Given the description of an element on the screen output the (x, y) to click on. 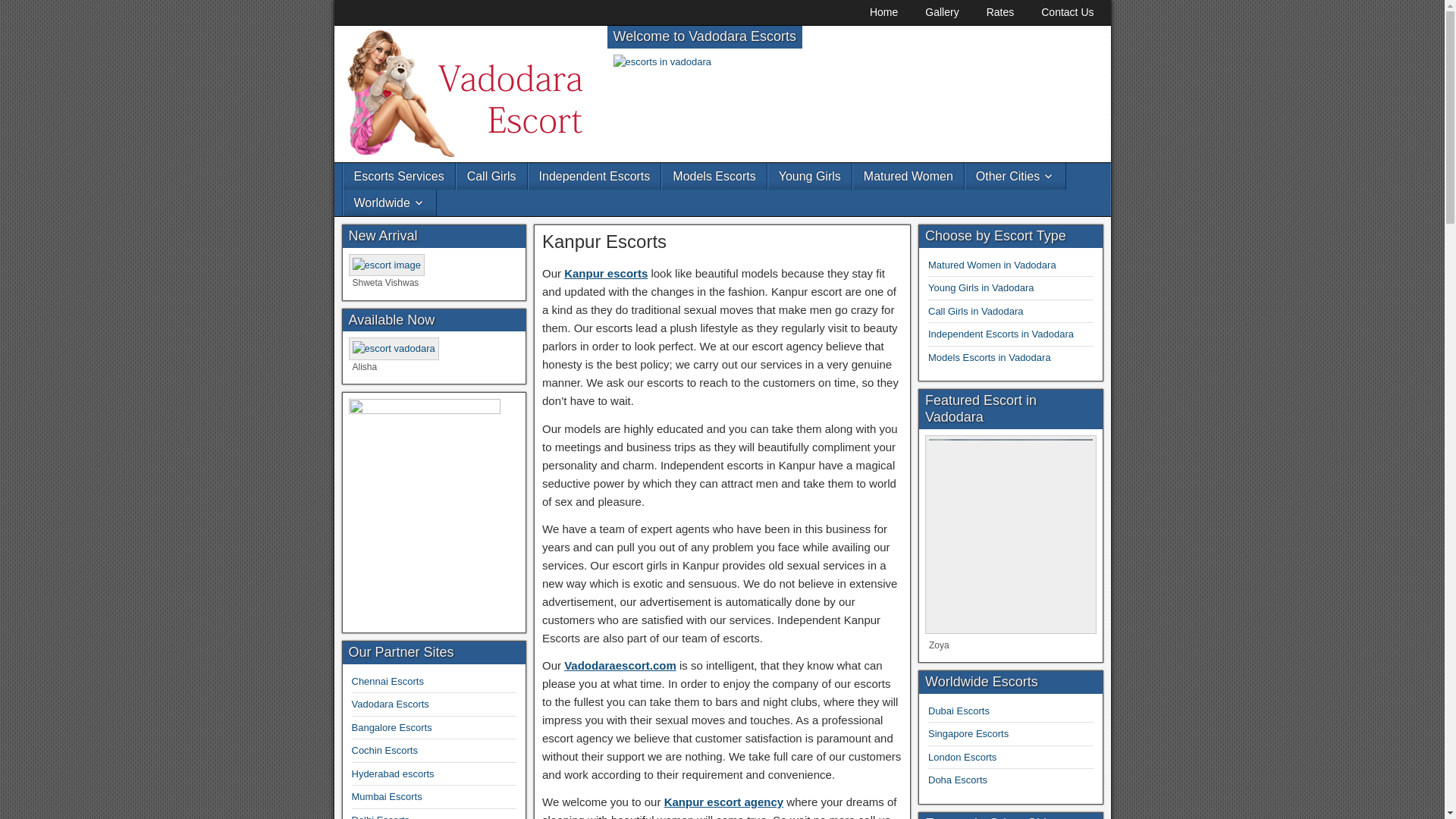
Worldwide (388, 202)
Vadodaraescort.com (620, 665)
Kanpur Escorts (603, 240)
Gallery (941, 12)
Available Now (394, 348)
Chennai Escorts (387, 681)
Kanpur escort agency (723, 801)
Models Escorts (713, 175)
Independent Escorts (594, 175)
Young Girls (809, 175)
Matured Women (908, 175)
Call Girls (492, 175)
Contact Us (1066, 12)
Home (883, 12)
New Arrival (387, 264)
